Given the description of an element on the screen output the (x, y) to click on. 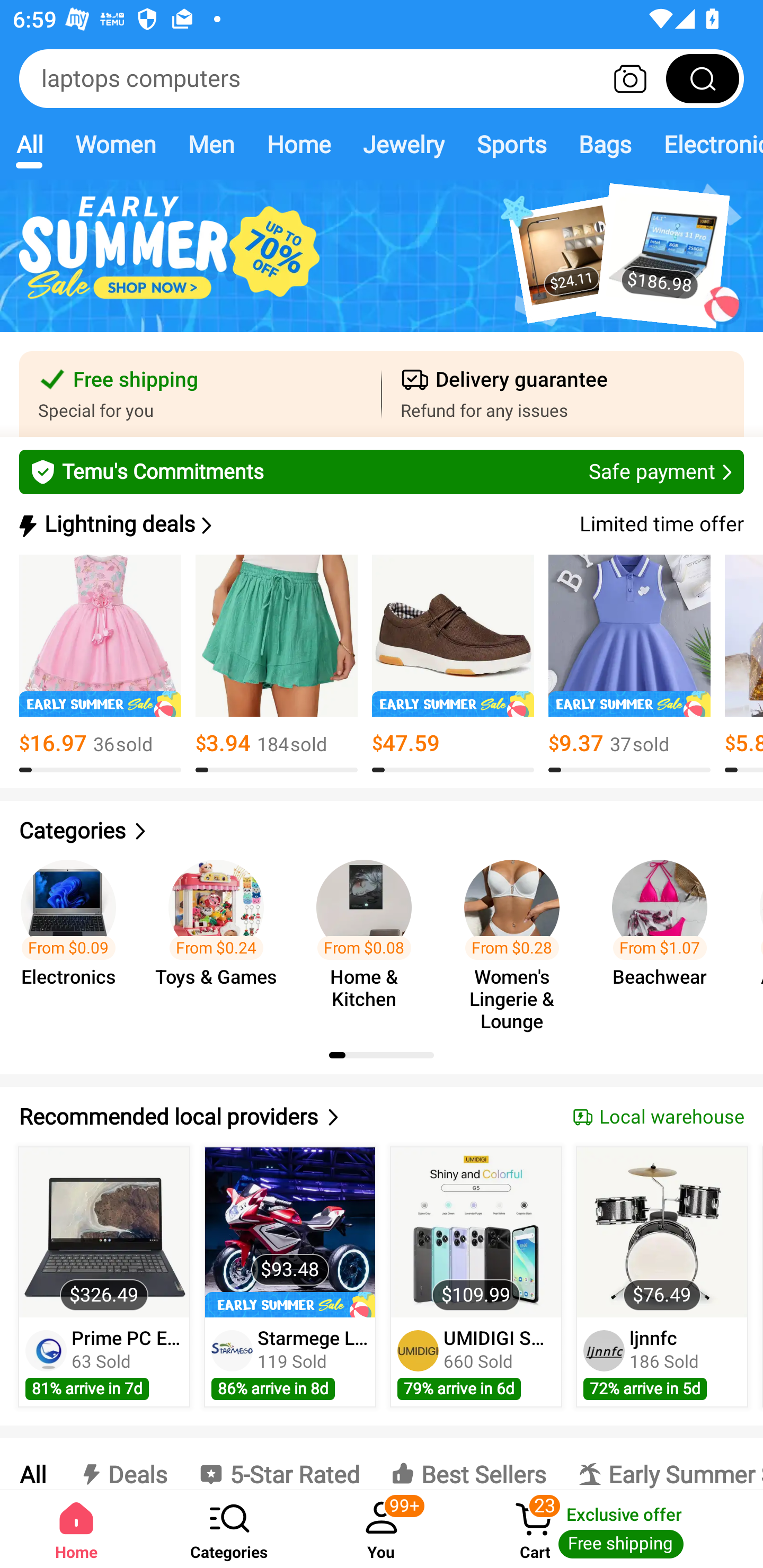
laptops computers (381, 78)
All (29, 144)
Women (115, 144)
Men (211, 144)
Home (298, 144)
Jewelry (403, 144)
Sports (511, 144)
Bags (605, 144)
Electronics (705, 144)
$24.11 $186.98 (381, 265)
Free shipping Special for you (200, 394)
Delivery guarantee Refund for any issues (562, 394)
Temu's Commitments (381, 471)
Lightning deals Lightning deals Limited time offer (379, 524)
$16.97 36￼sold 8.0 (100, 664)
$3.94 184￼sold 8.0 (276, 664)
$47.59 8.0 (453, 664)
$9.37 37￼sold 8.0 (629, 664)
Categories (381, 830)
From $0.09 Electronics (74, 936)
From $0.24 Toys & Games (222, 936)
From $0.08 Home & Kitchen (369, 936)
From $0.28 Women's Lingerie & Lounge (517, 936)
From $1.07 Beachwear (665, 936)
$326.49 Prime PC Emporium 63 Sold 81% arrive in 7d (103, 1276)
$109.99 UMIDIGI SHOP 660 Sold 79% arrive in 6d (475, 1276)
$76.49 ljnnfc 186 Sold 72% arrive in 5d (661, 1276)
$326.49 (104, 1232)
$93.48 (290, 1232)
$109.99 (475, 1232)
$76.49 (661, 1232)
All (32, 1463)
Deals Deals Deals (122, 1463)
5-Star Rated 5-Star Rated 5-Star Rated (279, 1463)
Best Sellers Best Sellers Best Sellers (468, 1463)
Home (76, 1528)
Categories (228, 1528)
You ‎99+‎ You (381, 1528)
Cart 23 Cart Exclusive offer (610, 1528)
